Given the description of an element on the screen output the (x, y) to click on. 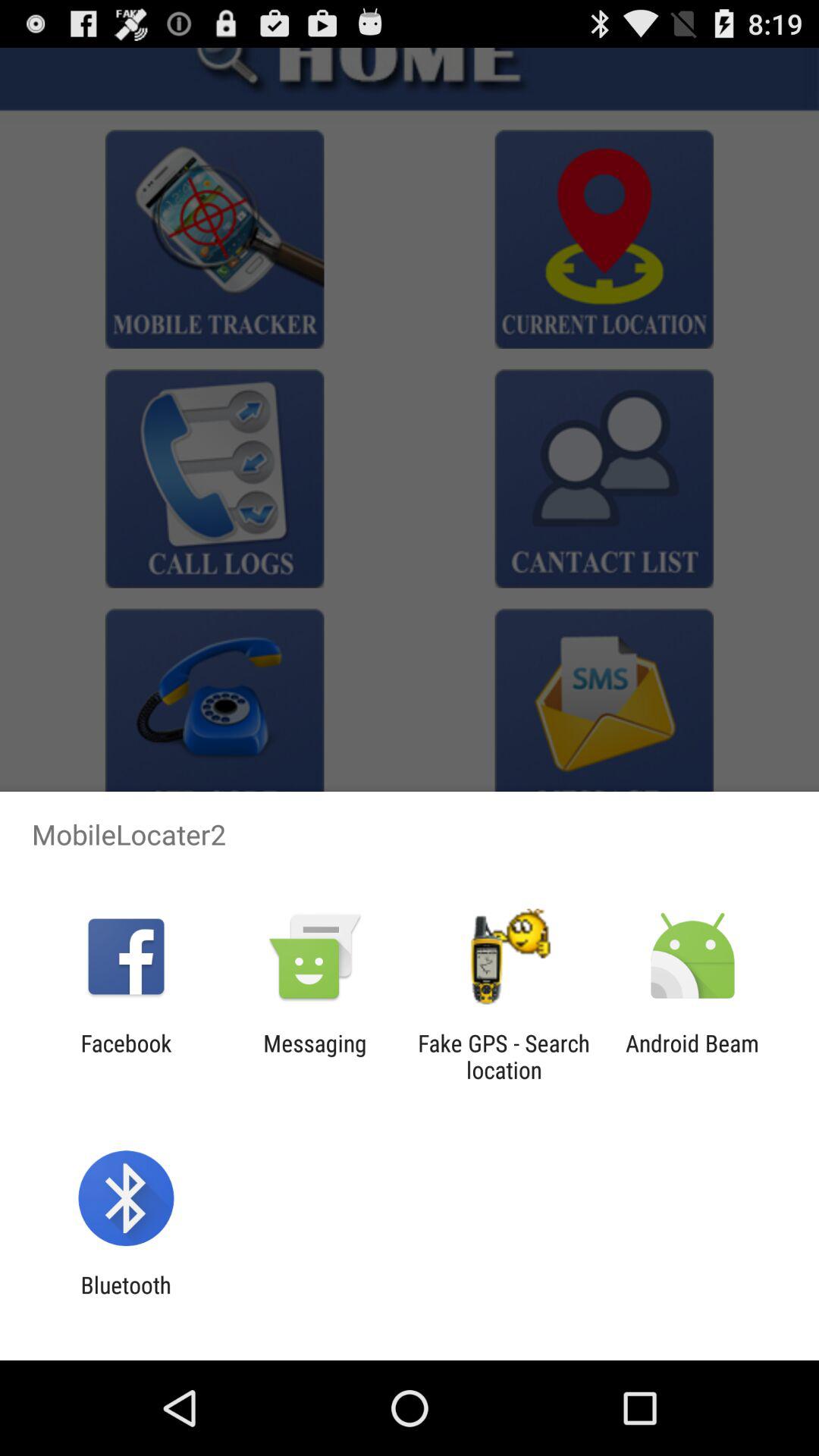
flip to android beam icon (692, 1056)
